Given the description of an element on the screen output the (x, y) to click on. 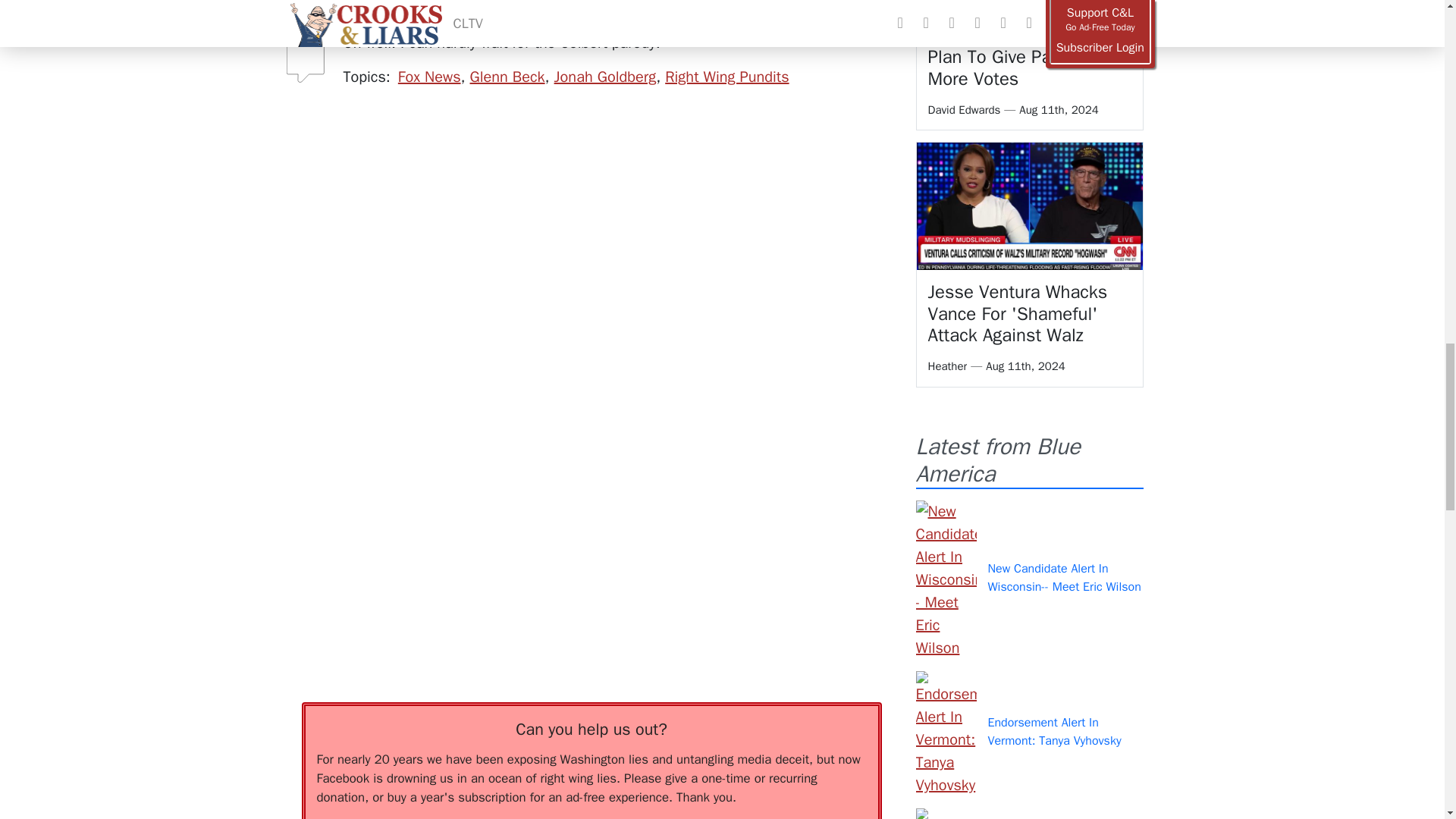
Fox News (429, 76)
Insticator Content Engagement Unit (415, 391)
Jonah Goldberg (605, 76)
Glenn Beck (507, 76)
